Given the description of an element on the screen output the (x, y) to click on. 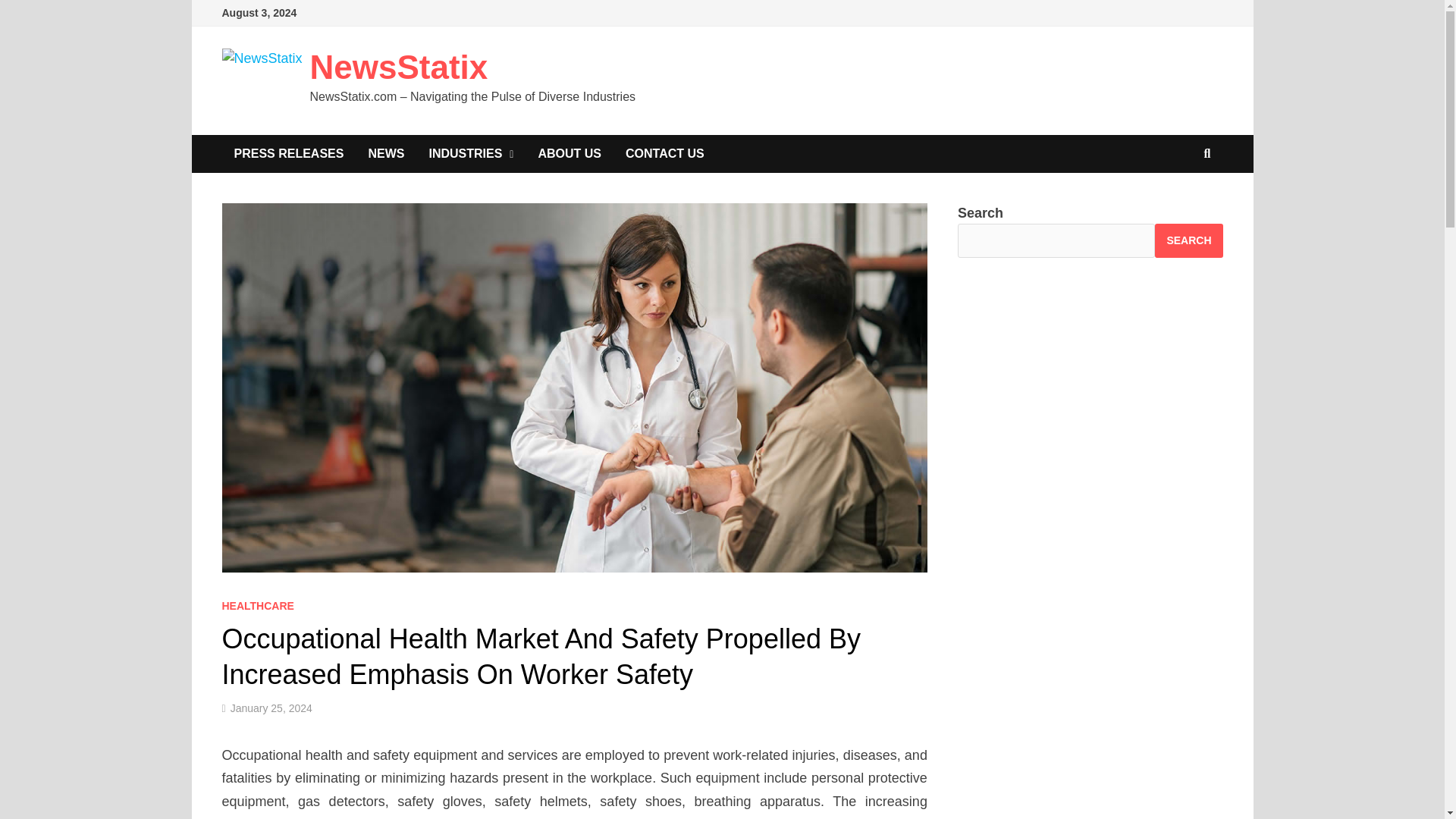
ABOUT US (568, 153)
INDUSTRIES (470, 153)
NewsStatix (398, 66)
PRESS RELEASES (288, 153)
CONTACT US (664, 153)
NEWS (385, 153)
